Given the description of an element on the screen output the (x, y) to click on. 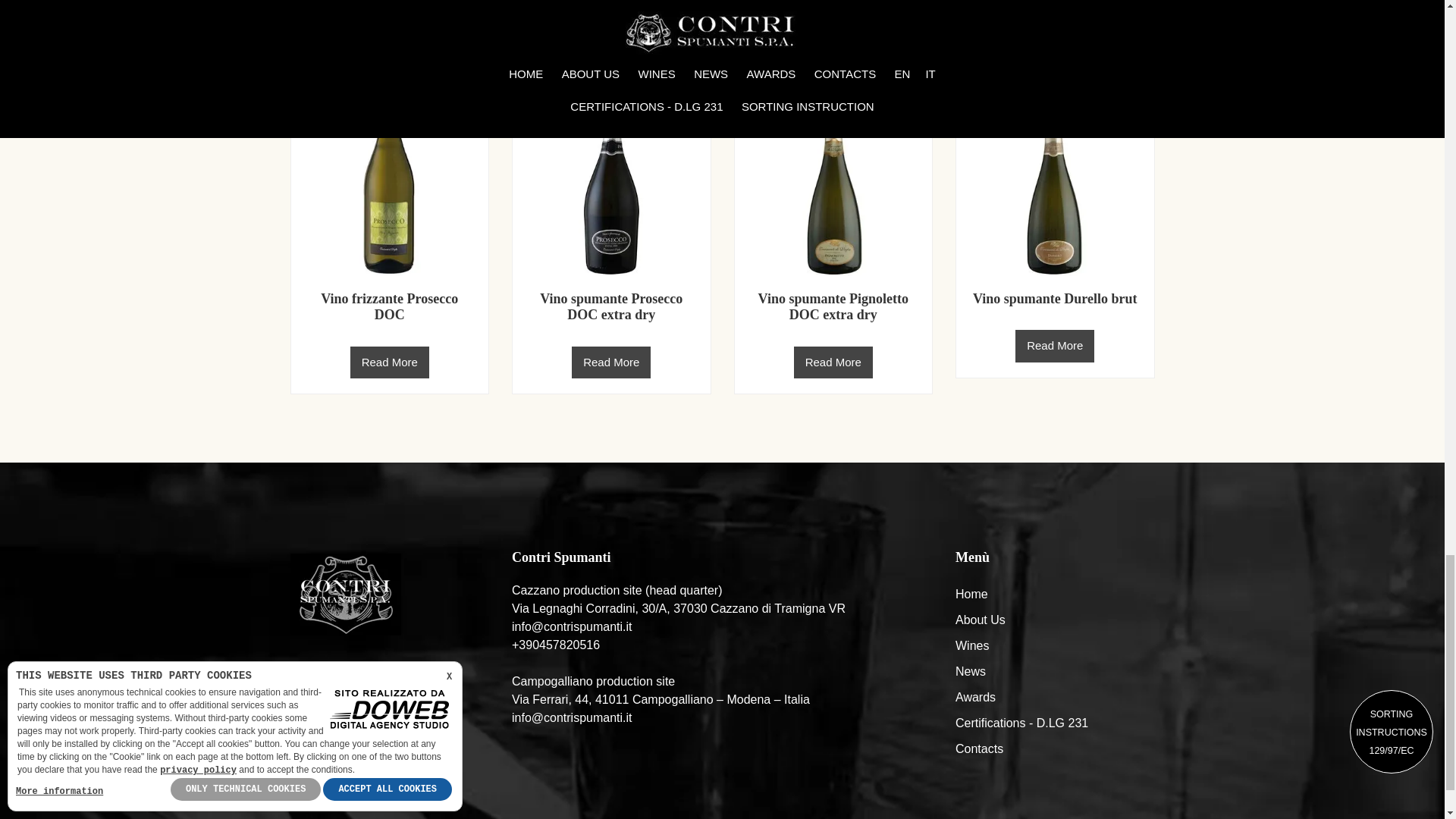
Vino spumante Prosecco DOC extra dry (611, 306)
Read More (1054, 346)
Read More (611, 362)
Vino frizzante Prosecco DOC (389, 306)
Read More (389, 362)
Vino spumante Pignoletto DOC extra dry (833, 306)
Read More (832, 362)
Vino spumante Durello brut (1054, 298)
